Given the description of an element on the screen output the (x, y) to click on. 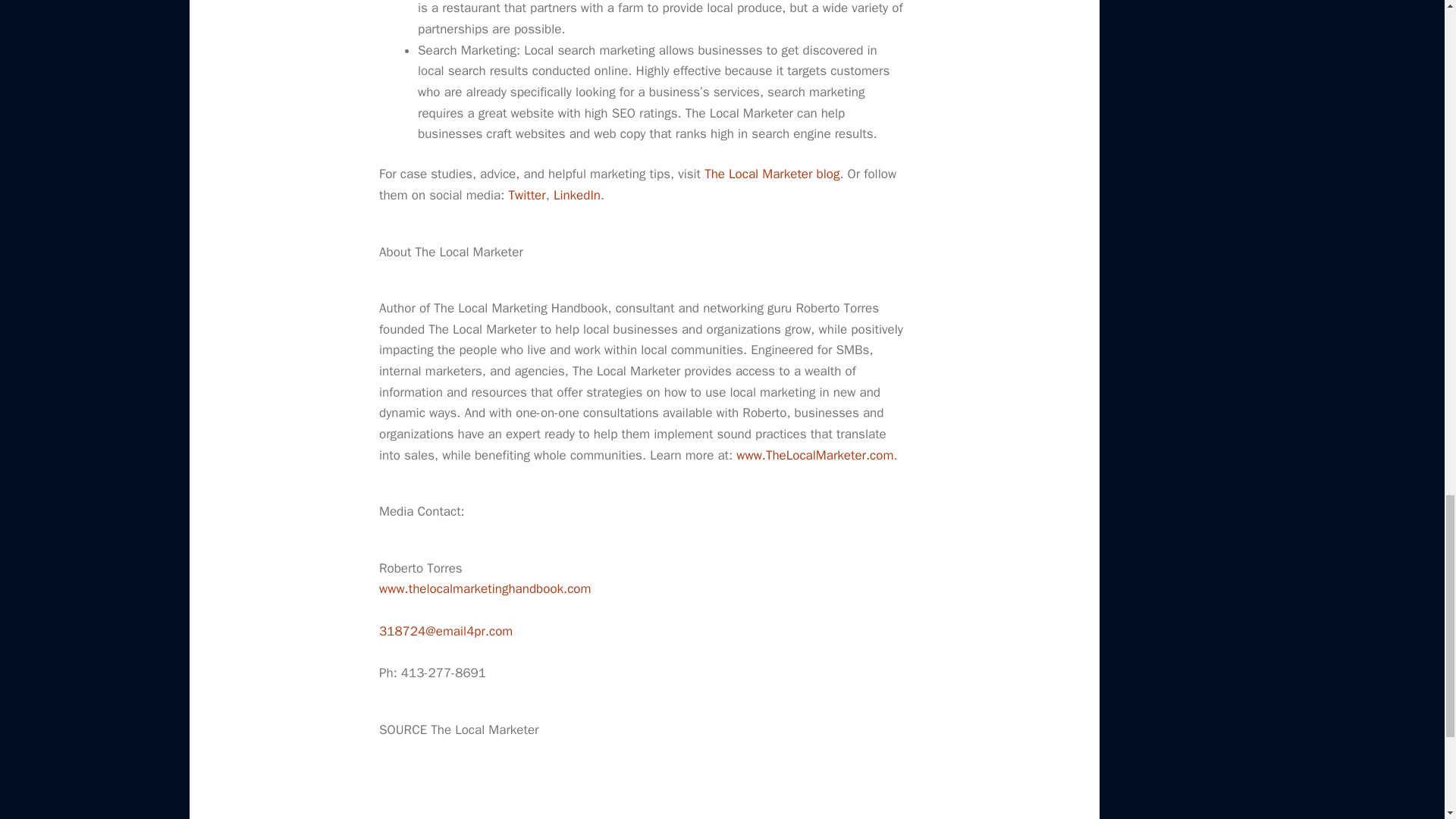
www.thelocalmarketinghandbook.com (484, 588)
Twitter (526, 195)
LinkedIn (576, 195)
www.TheLocalMarketer.com (814, 455)
The Local Marketer blog (772, 173)
